Given the description of an element on the screen output the (x, y) to click on. 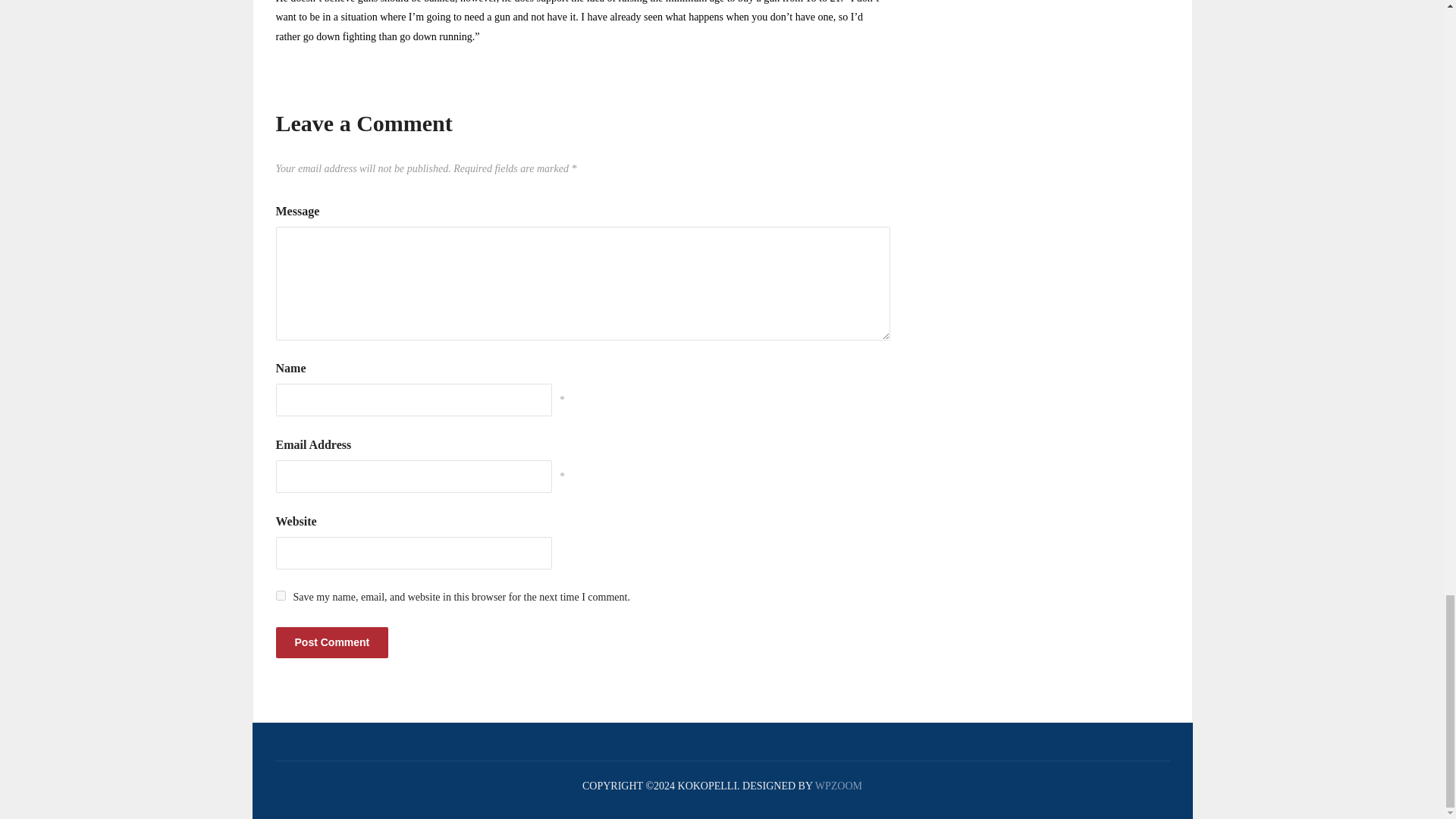
Post Comment (332, 642)
WPZOOM WordPress Themes (838, 785)
yes (280, 595)
